Given the description of an element on the screen output the (x, y) to click on. 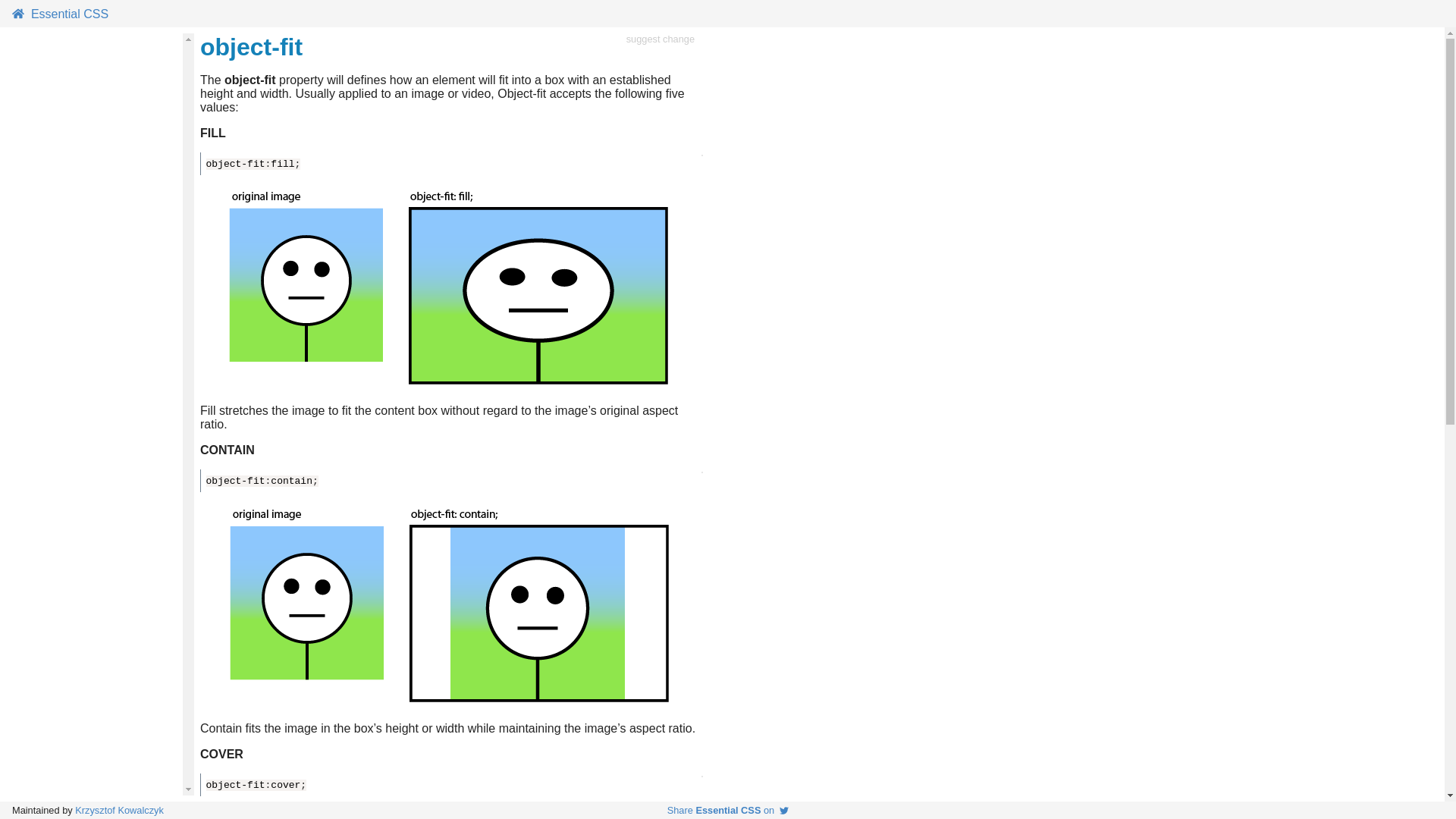
Krzysztof Kowalczyk (119, 809)
 Essential CSS (59, 13)
Share Essential CSS on  (727, 809)
suggest change (660, 47)
